Given the description of an element on the screen output the (x, y) to click on. 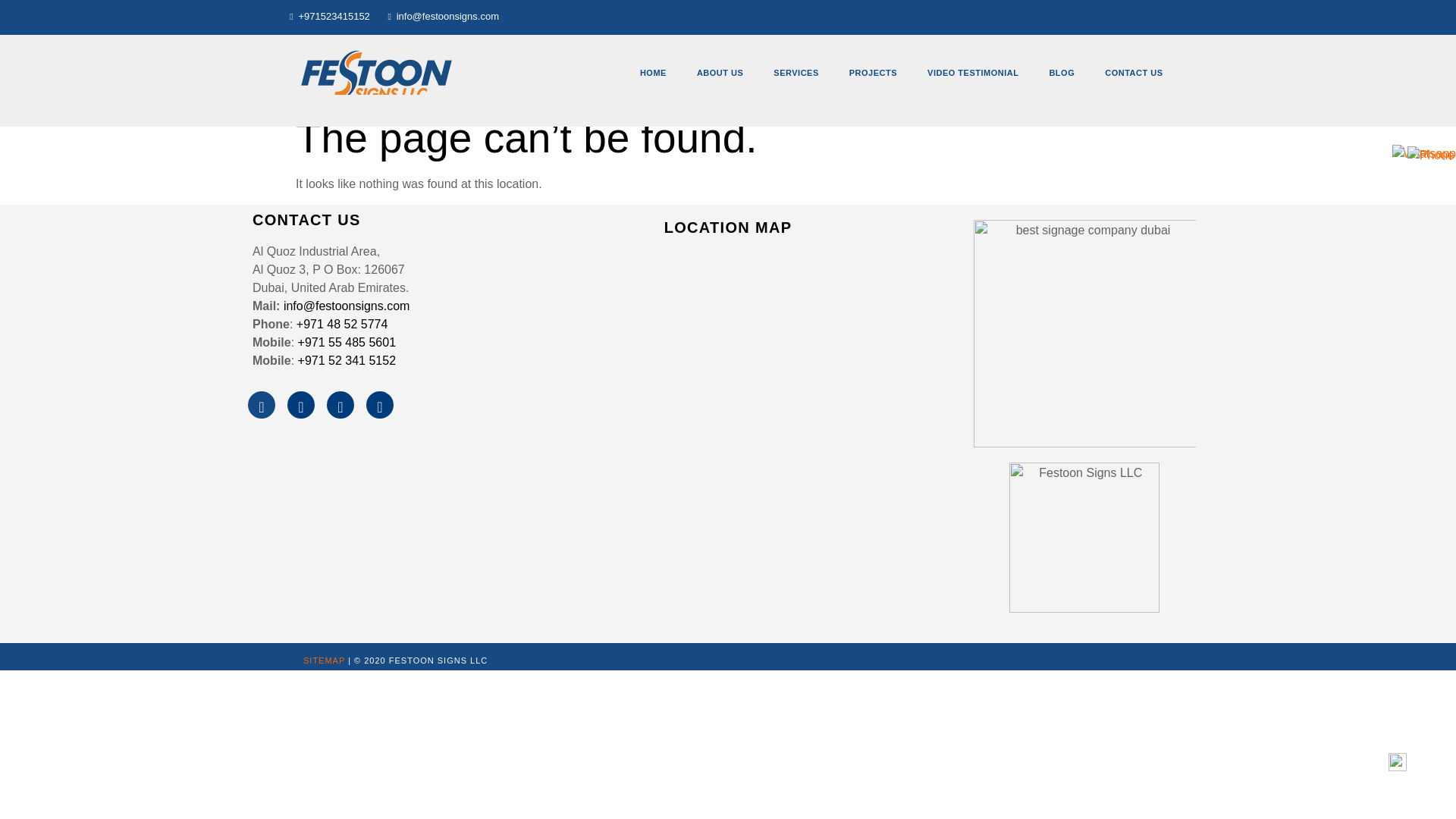
PROJECTS (873, 73)
HOME (652, 73)
SERVICES (795, 73)
VIDEO TESTIMONIAL (972, 73)
CONTACT US (1133, 73)
BLOG (1061, 73)
ABOUT US (719, 73)
SITEMAP (323, 660)
